Given the description of an element on the screen output the (x, y) to click on. 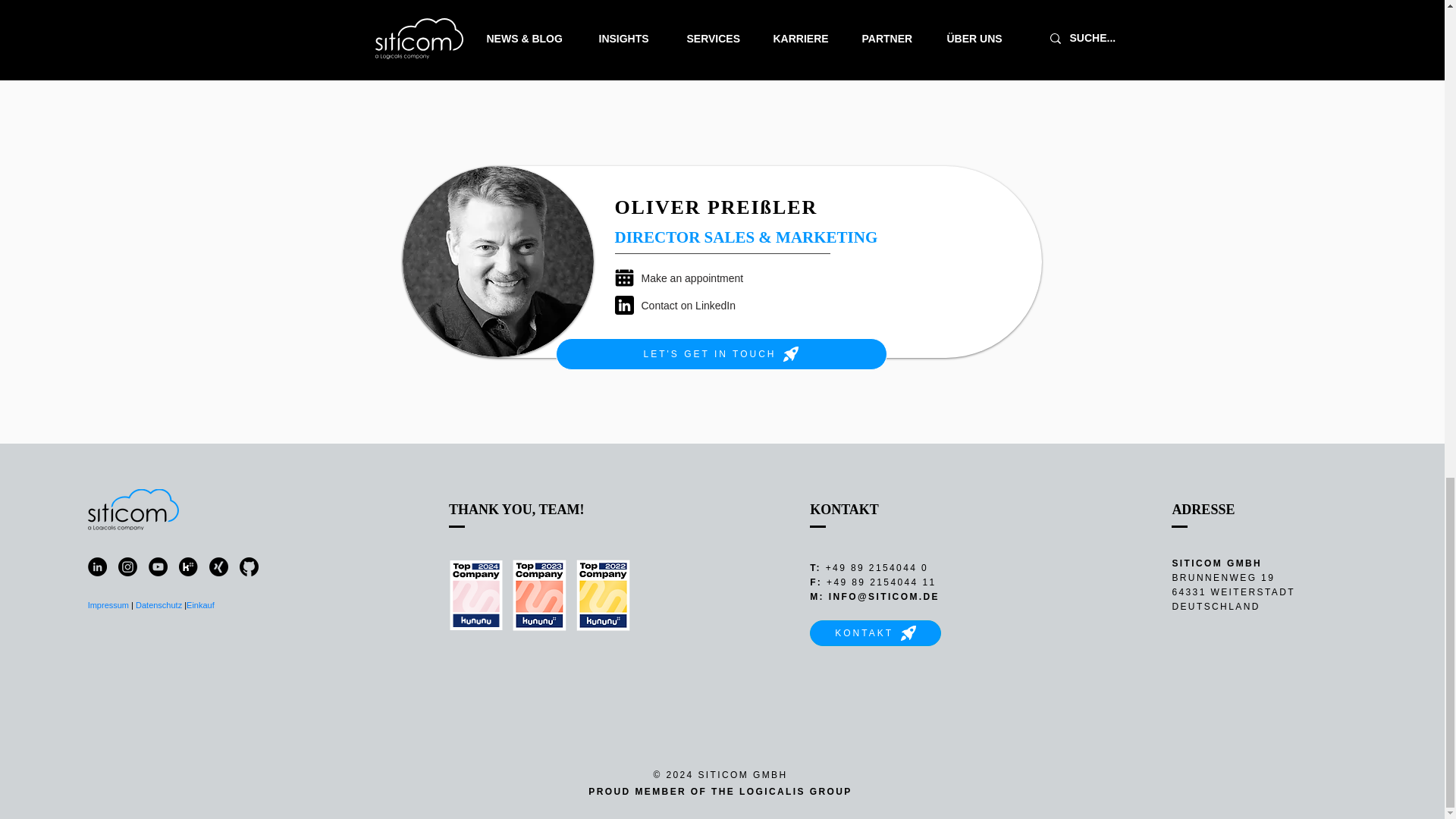
Einkauf  (201, 604)
5G Private networks for industry 4.0 (864, 6)
Contact on LinkedIn (702, 305)
Datenschutz (158, 604)
LET'S GET IN TOUCH (720, 354)
Download (864, 43)
Make an appointment (702, 277)
Impressum (108, 604)
